Given the description of an element on the screen output the (x, y) to click on. 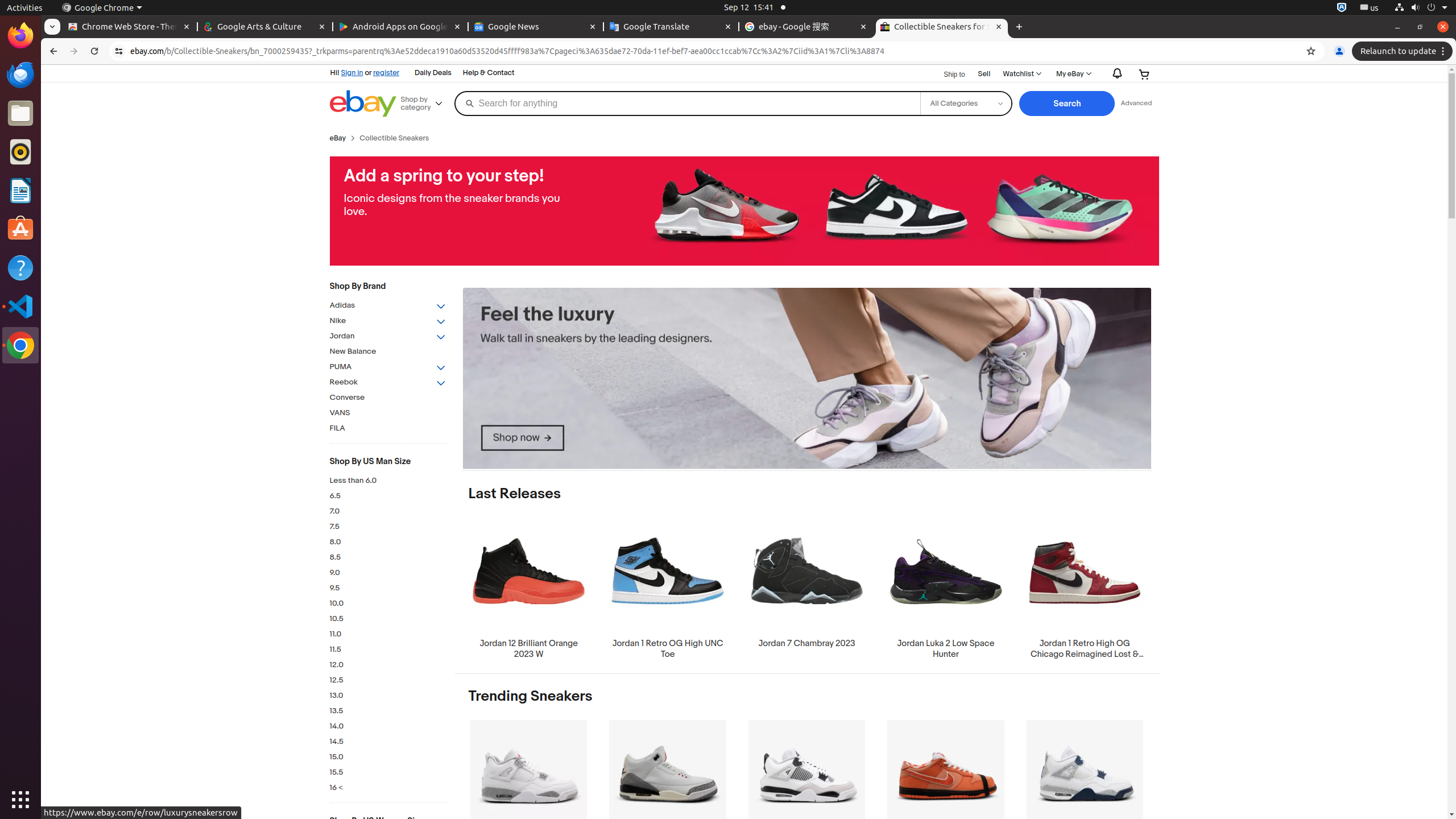
Help & Contact Element type: link (488, 73)
Show Applications Element type: toggle-button (20, 799)
Android Apps on Google Play - Memory usage - 60.7 MB Element type: page-tab (400, 26)
New Balance Element type: link (387, 351)
5. To get missing image descriptions, open the context menu. Element type: link (806, 378)
